Given the description of an element on the screen output the (x, y) to click on. 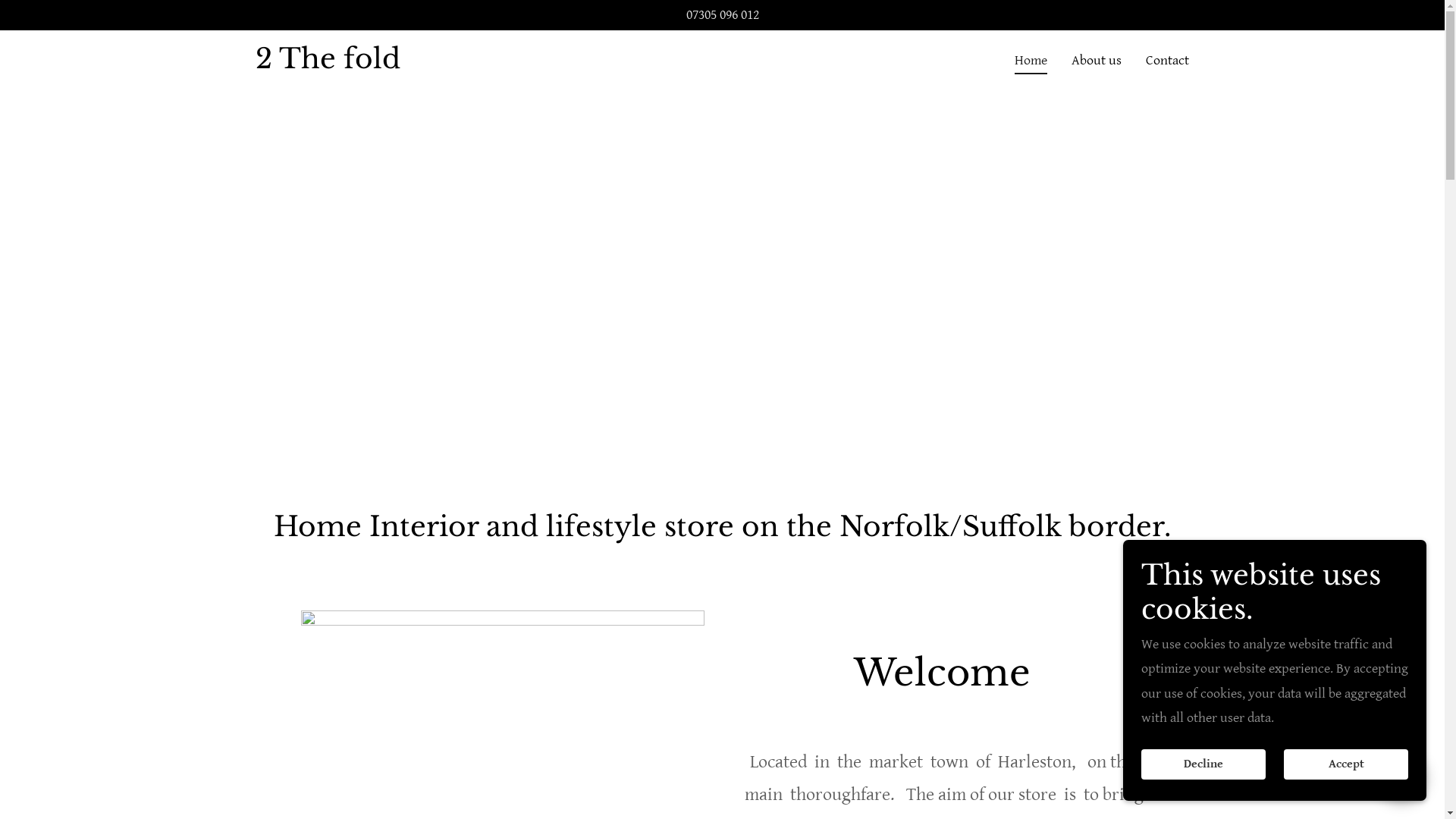
Accept Element type: text (1345, 764)
Home Element type: text (1030, 62)
07305 096 012 Element type: text (721, 14)
2 The fold Element type: text (326, 64)
Decline Element type: text (1203, 764)
Contact Element type: text (1167, 59)
About us Element type: text (1096, 59)
